Given the description of an element on the screen output the (x, y) to click on. 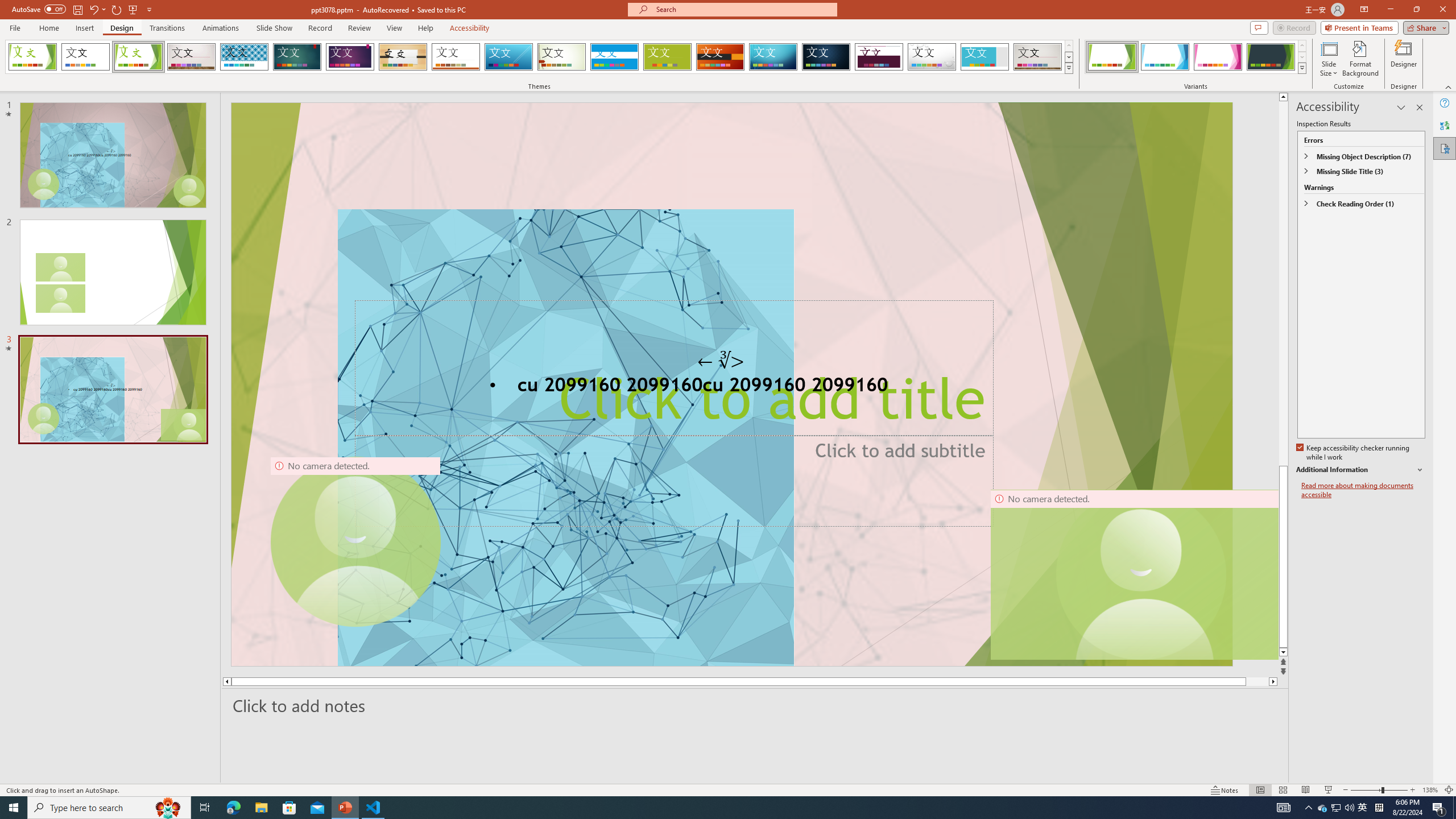
Slide Size (1328, 58)
TextBox 61 (730, 386)
Damask (826, 56)
Integral (244, 56)
Zoom 138% (1430, 790)
Format Background (1360, 58)
